Given the description of an element on the screen output the (x, y) to click on. 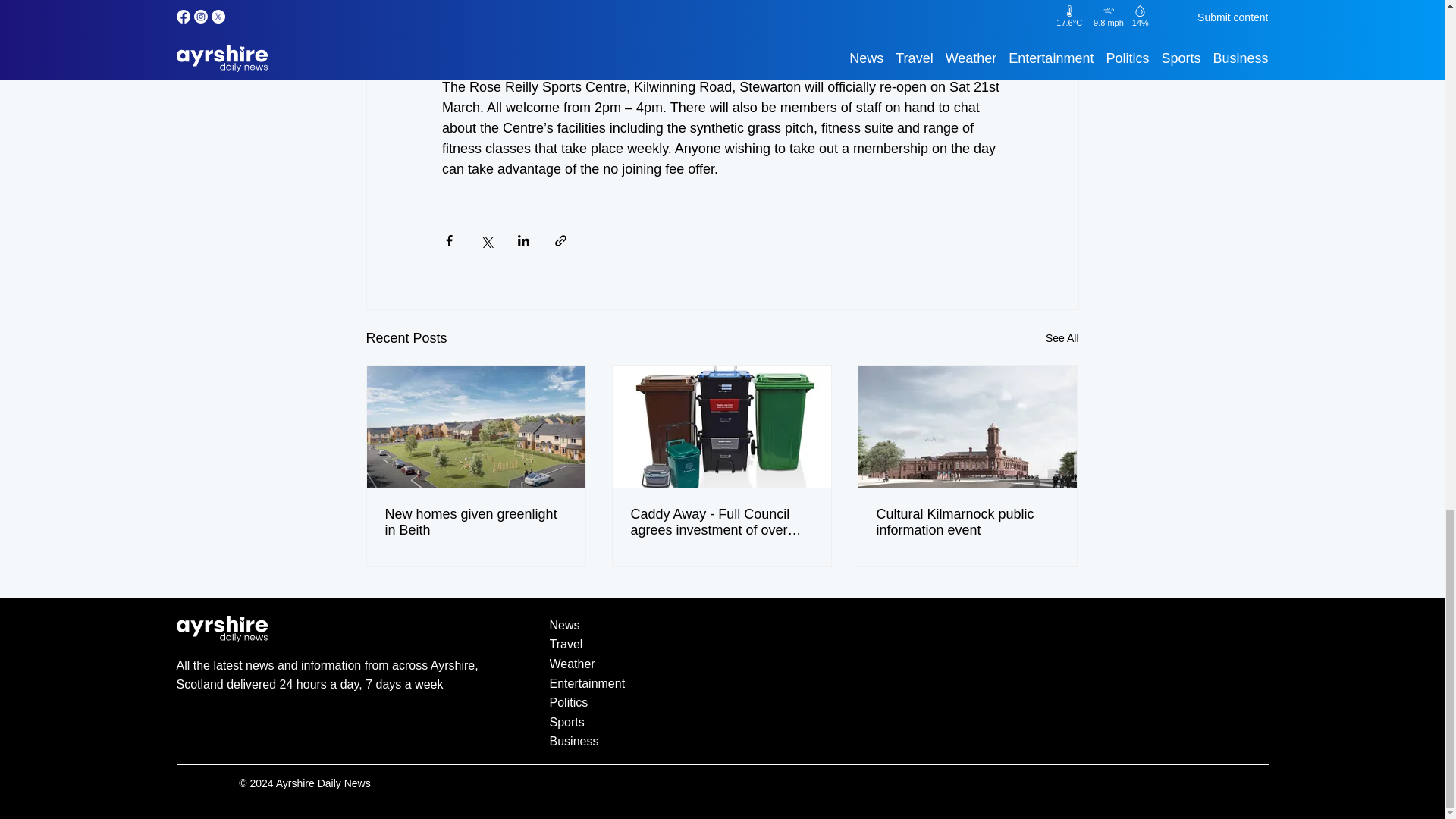
Politics (721, 702)
Weather (721, 664)
New homes given greenlight in Beith (476, 522)
Entertainment (721, 683)
Travel (721, 644)
News (721, 625)
See All (1061, 338)
Sports (721, 722)
Cultural Kilmarnock public information event (967, 522)
Business (721, 741)
